Given the description of an element on the screen output the (x, y) to click on. 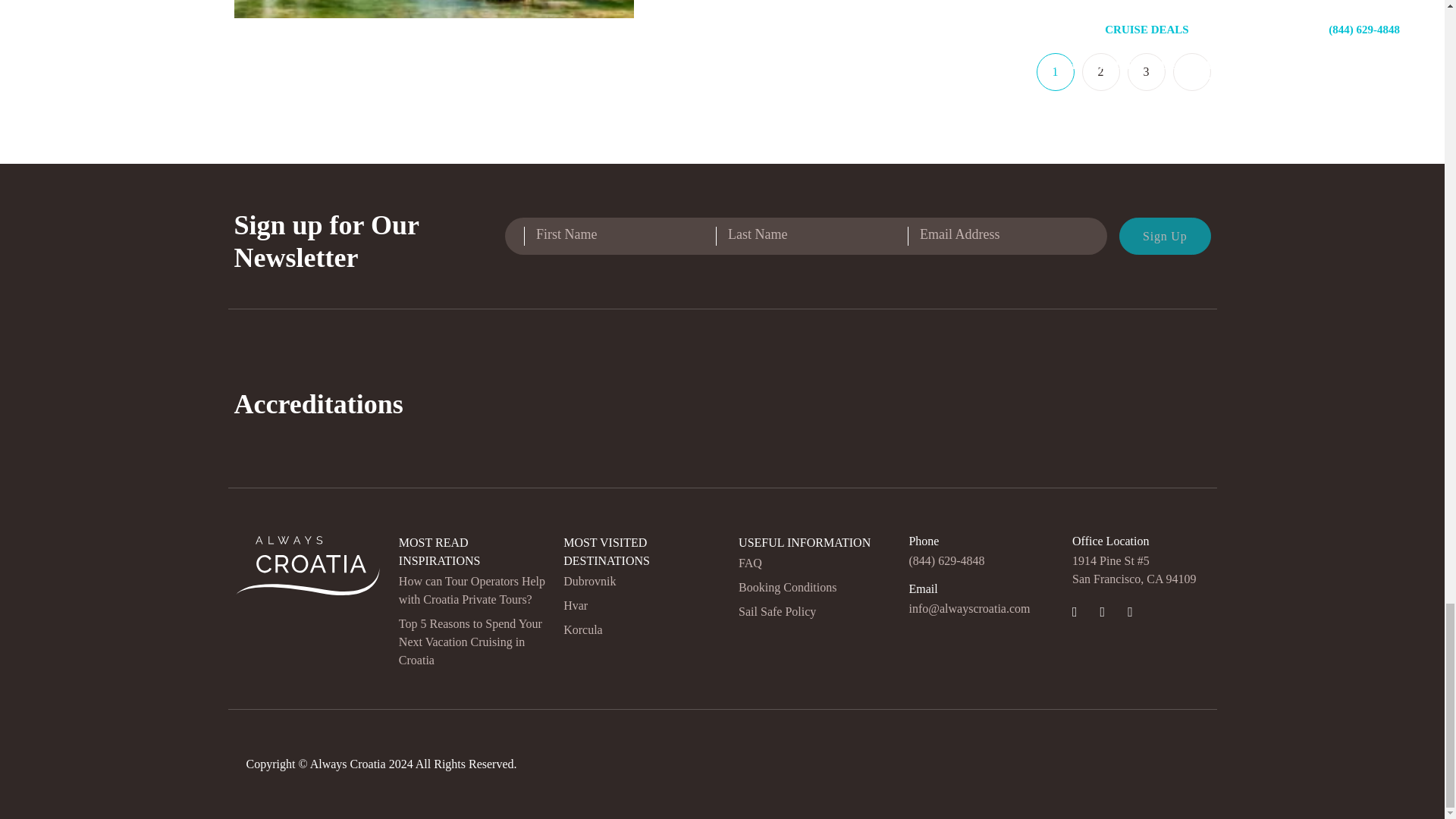
Sign Up (1165, 235)
